Given the description of an element on the screen output the (x, y) to click on. 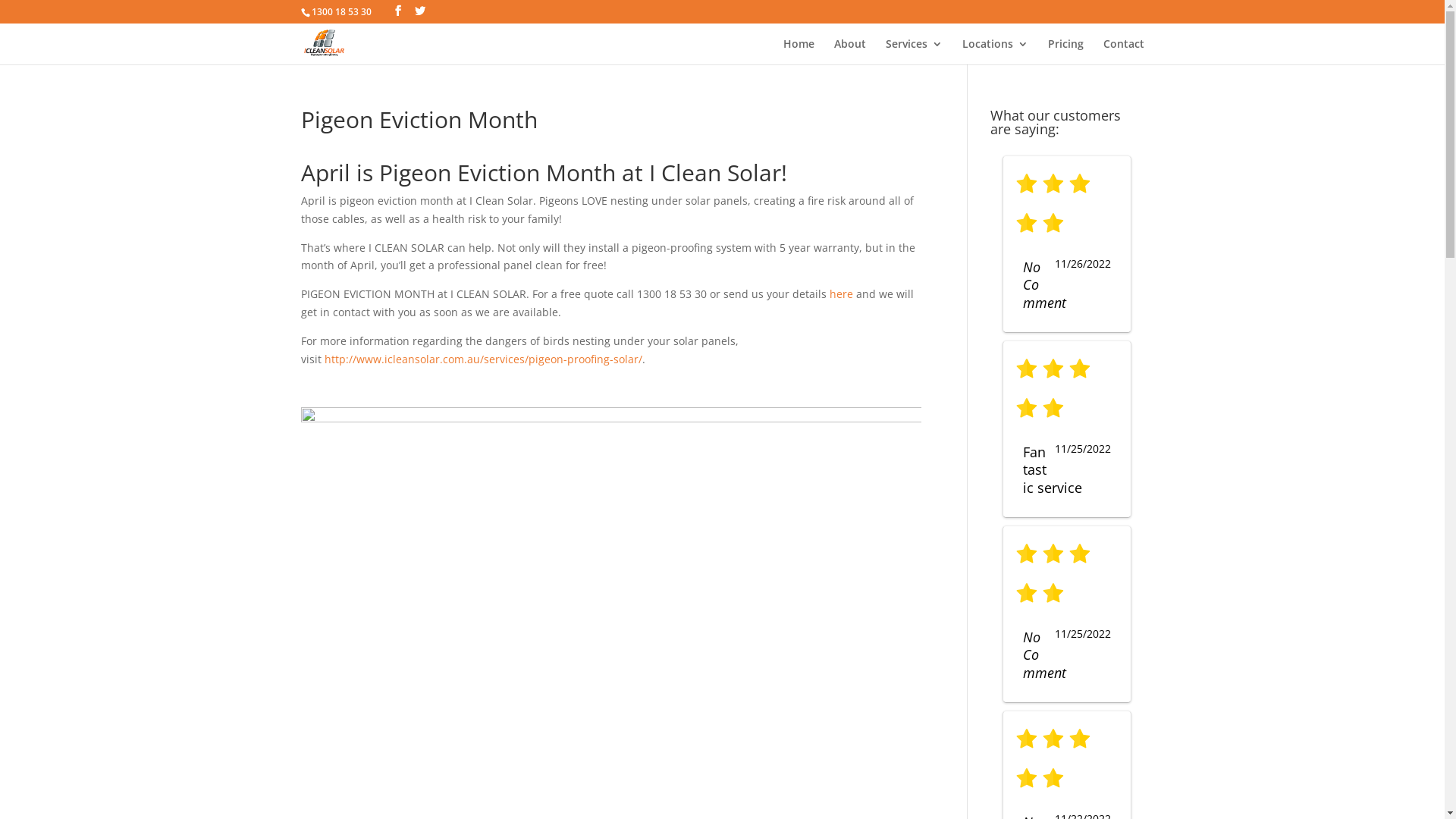
here Element type: text (841, 293)
Pricing Element type: text (1065, 51)
About Element type: text (850, 51)
Home Element type: text (797, 51)
Locations Element type: text (994, 51)
Services Element type: text (913, 51)
Contact Element type: text (1122, 51)
